Given the description of an element on the screen output the (x, y) to click on. 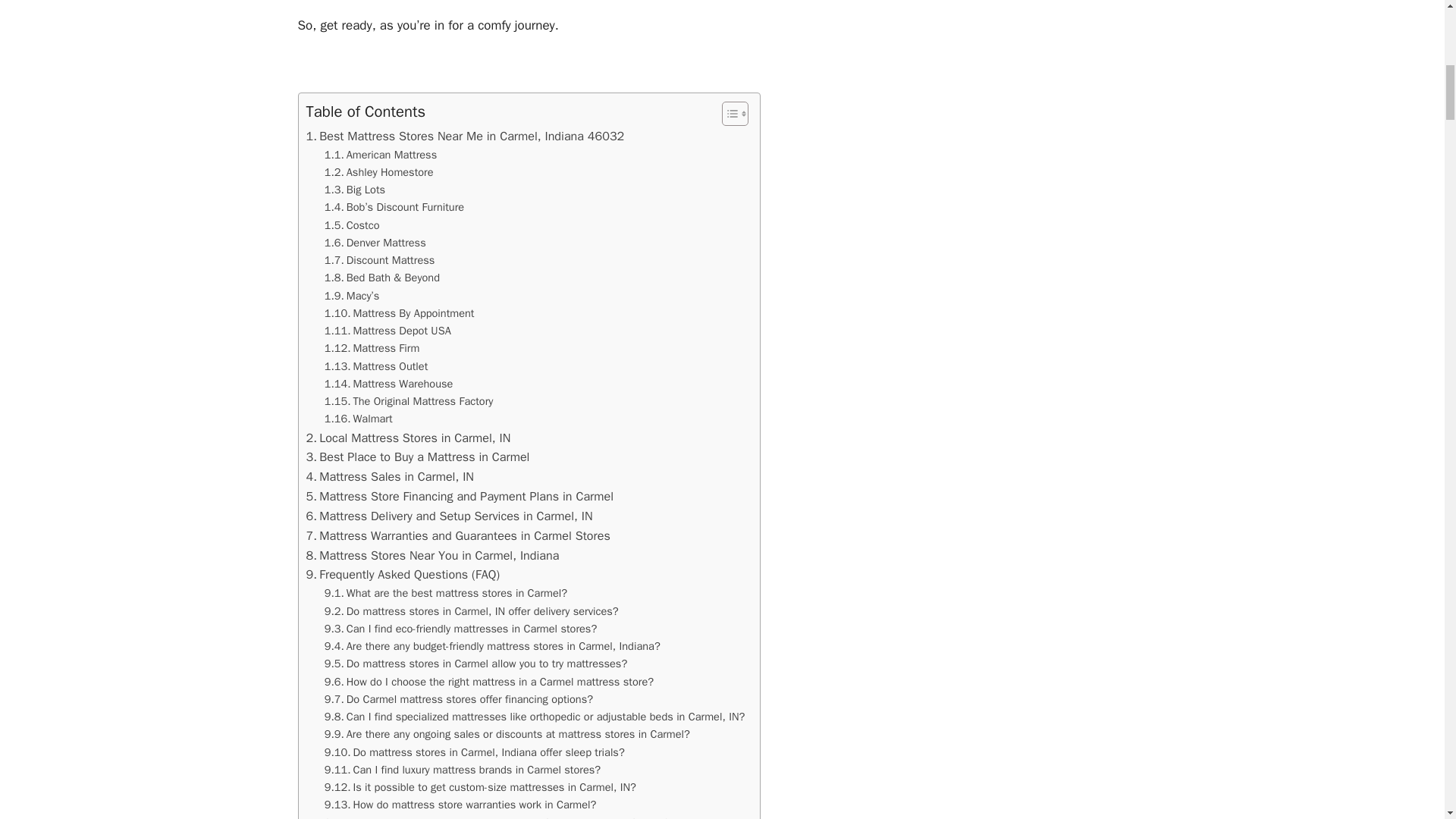
Costco (352, 225)
Ashley Homestore (378, 171)
Best Mattress Stores Near Me in Carmel, Indiana 46032 (464, 136)
American Mattress (380, 154)
Discount Mattress (379, 260)
Denver Mattress (375, 242)
Big Lots (354, 189)
Mattress By Appointment (399, 313)
Mattress Depot USA (387, 330)
